Given the description of an element on the screen output the (x, y) to click on. 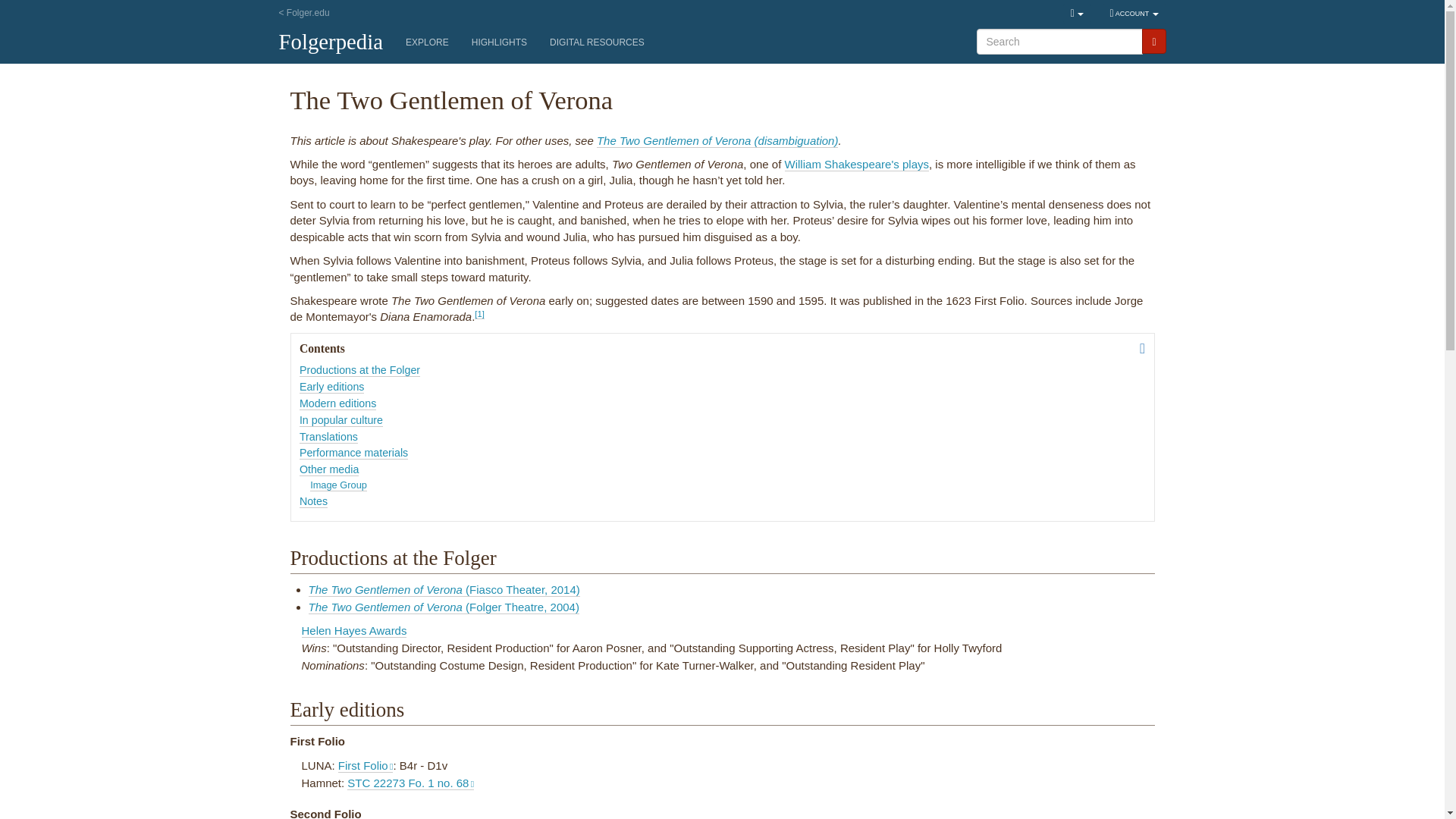
Folgerpedia (336, 42)
Account (1134, 13)
ACCOUNT (1134, 13)
Modern editions (337, 403)
William Shakespeare's plays (856, 164)
Translations (328, 436)
Early editions (332, 386)
HIGHLIGHTS (499, 42)
In popular culture (340, 420)
STC 22273 Fo. 1 no. 68 (410, 783)
EXPLORE (427, 42)
William Shakespeare's plays (856, 164)
Helen Hayes Awards (354, 631)
Performance materials (353, 452)
Other media (328, 469)
